Given the description of an element on the screen output the (x, y) to click on. 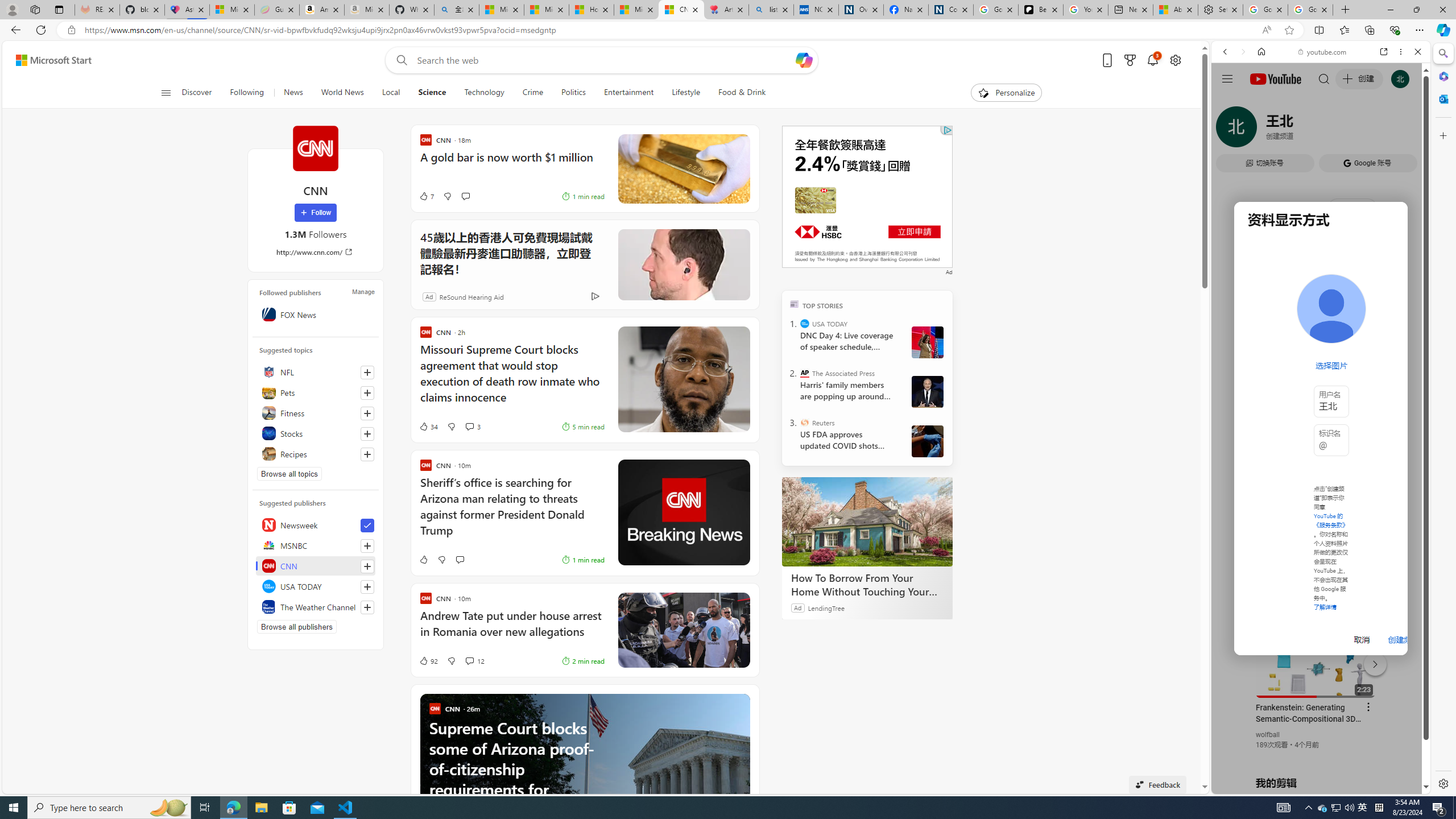
The Weather Channel (315, 606)
Browse all topics (289, 473)
USA TODAY (315, 586)
Manage (362, 291)
Class: button-glyph (165, 92)
Notifications (1152, 60)
US FDA approves updated COVID shots ahead of fall and winter (846, 440)
